Given the description of an element on the screen output the (x, y) to click on. 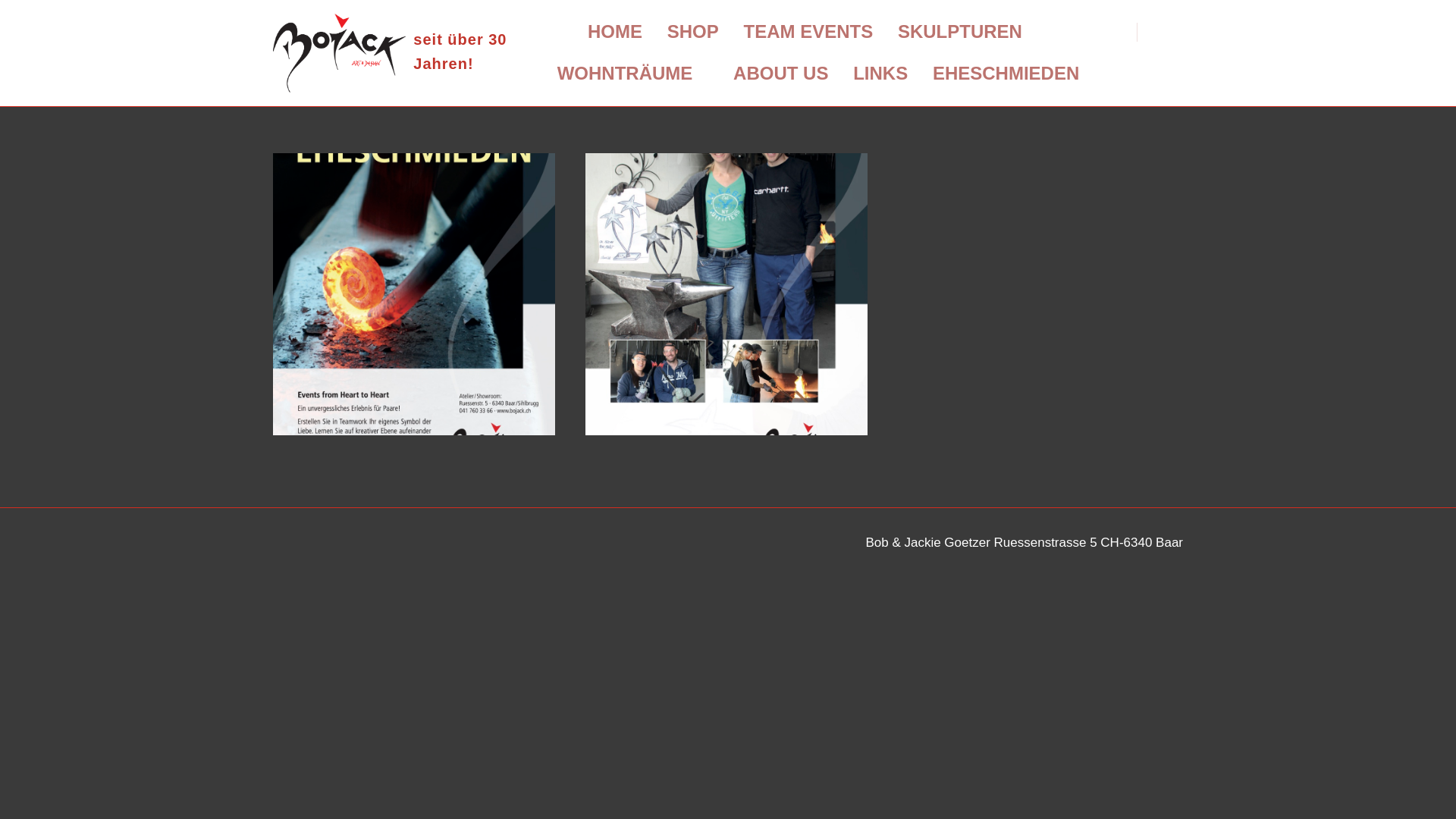
TEAM EVENTS Element type: text (808, 31)
BOJACK Art & Design Element type: hover (339, 52)
EHESCHMIEDEN Element type: text (1005, 73)
LINKS Element type: text (880, 73)
HOME Element type: text (619, 31)
ABOUT US Element type: text (780, 73)
Wertvolle Auszeit zu Zweit! Element type: hover (414, 294)
SHOP Element type: text (692, 31)
Hochzeitsgeschenk mit Langzeitwirkung! Element type: hover (726, 294)
